Given the description of an element on the screen output the (x, y) to click on. 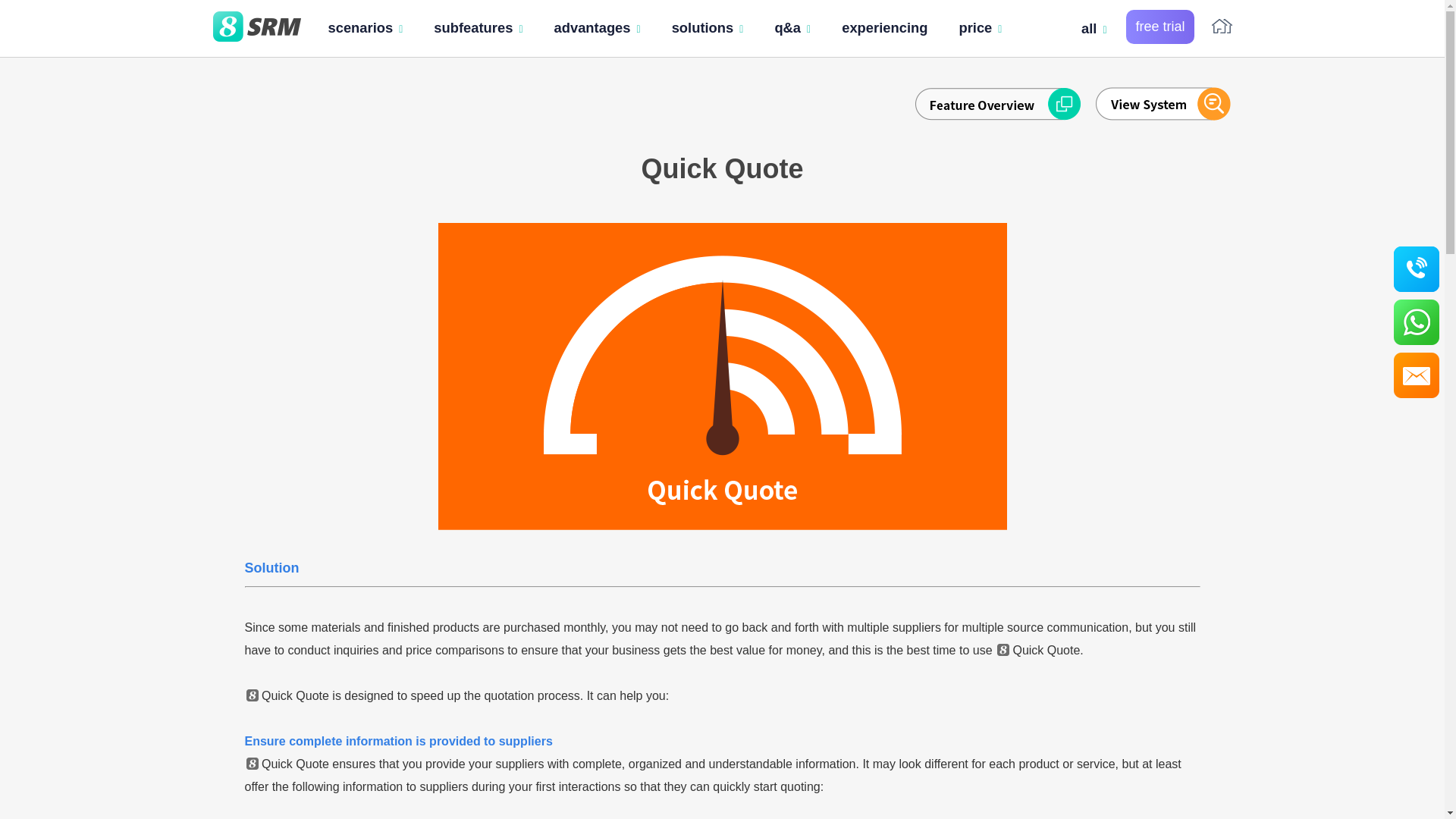
subfeatures (477, 28)
Visit our Homepage (255, 29)
scenarios (365, 28)
advantages (596, 28)
solutions (707, 28)
